Given the description of an element on the screen output the (x, y) to click on. 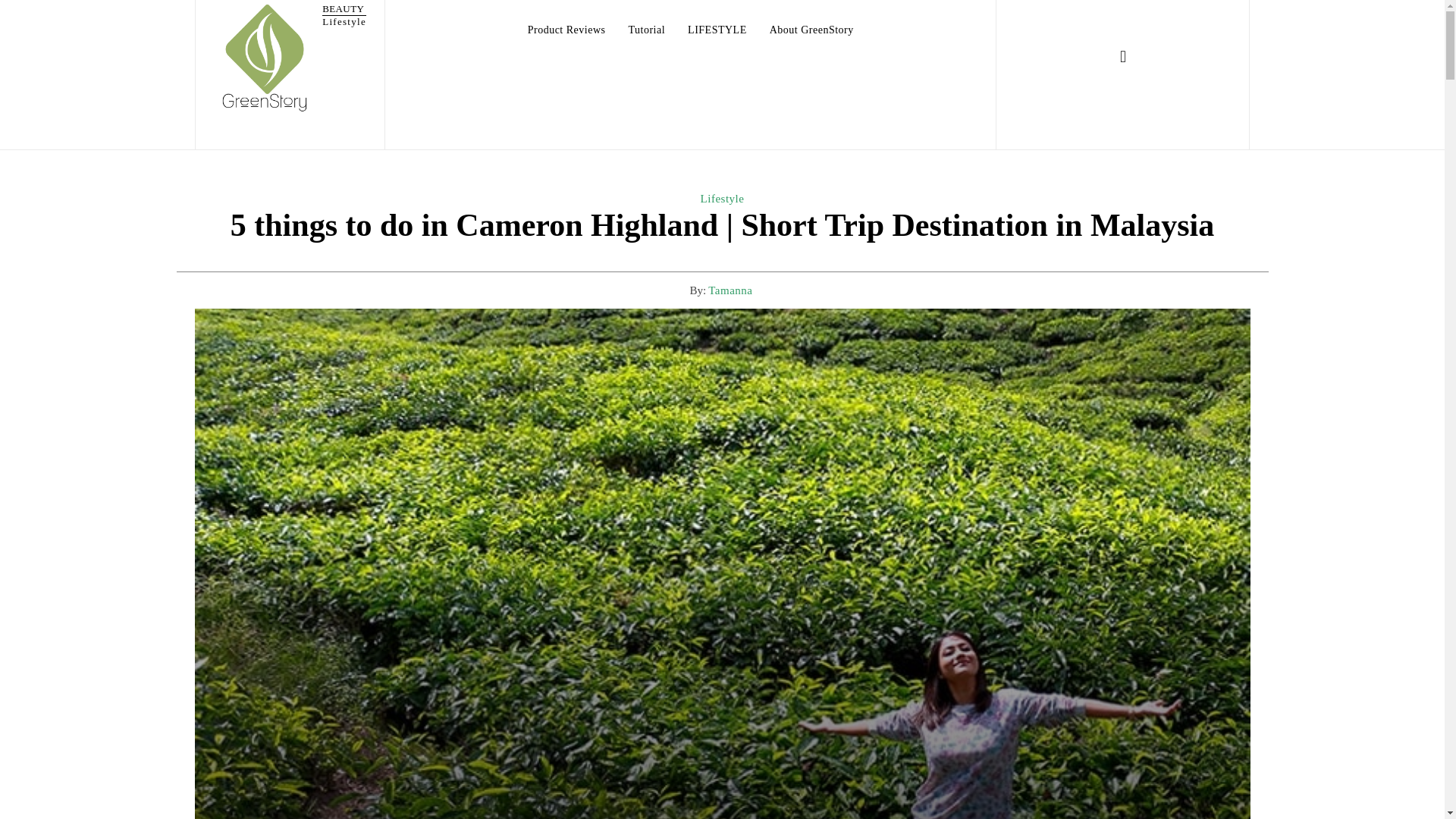
Product Reviews (287, 58)
LIFESTYLE (565, 30)
